Given the description of an element on the screen output the (x, y) to click on. 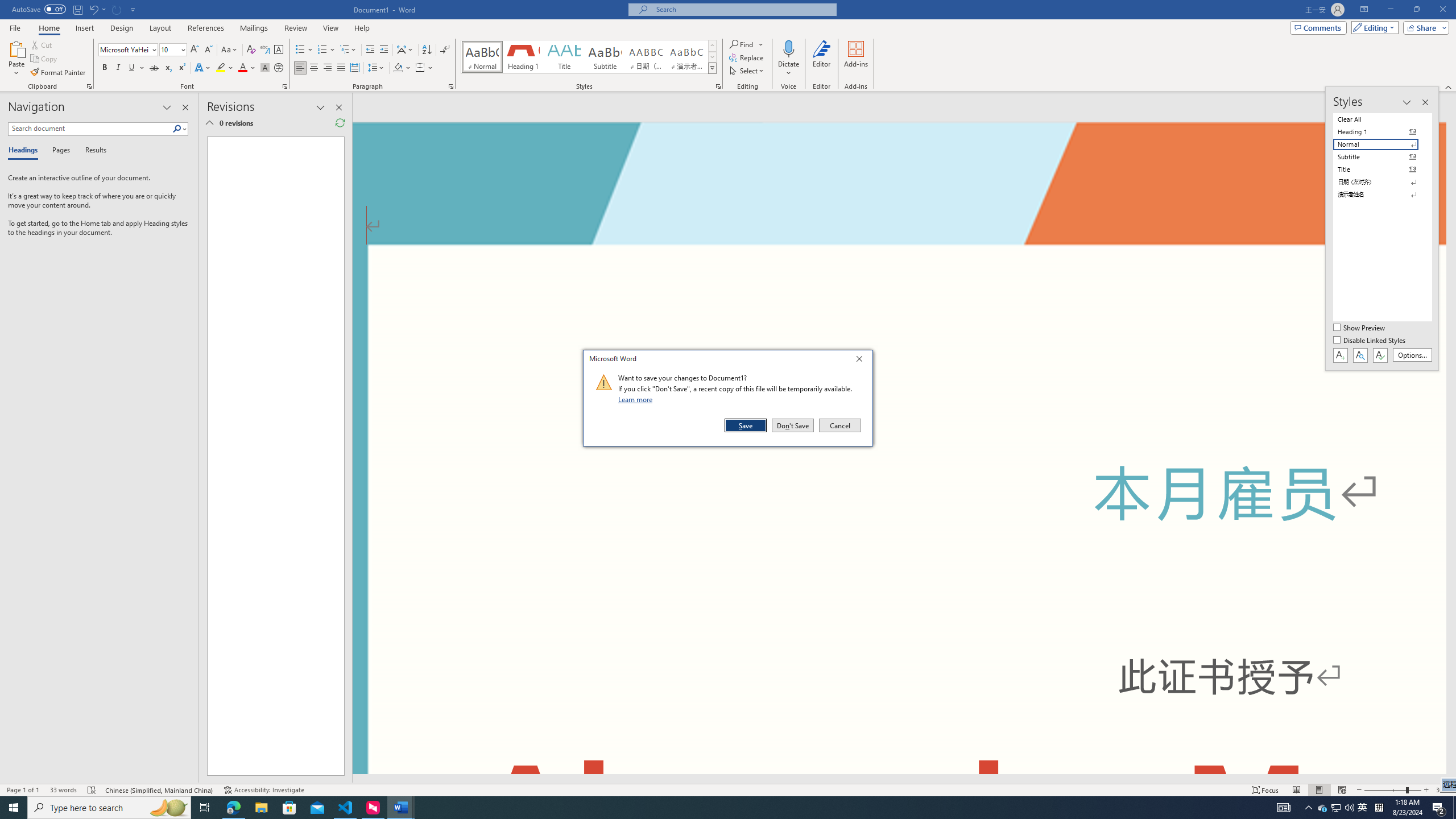
Phonetic Guide... (264, 49)
Task Pane Options (167, 107)
Save (746, 425)
Start (13, 807)
Undo Paragraph Alignment (96, 9)
Page Number Page 1 of 1 (22, 790)
Language Chinese (Simplified, Mainland China) (159, 790)
Paste (16, 48)
Increase Indent (383, 49)
Font Size (172, 49)
Text Highlight Color (224, 67)
Clear Formatting (250, 49)
Dictate (788, 48)
